Given the description of an element on the screen output the (x, y) to click on. 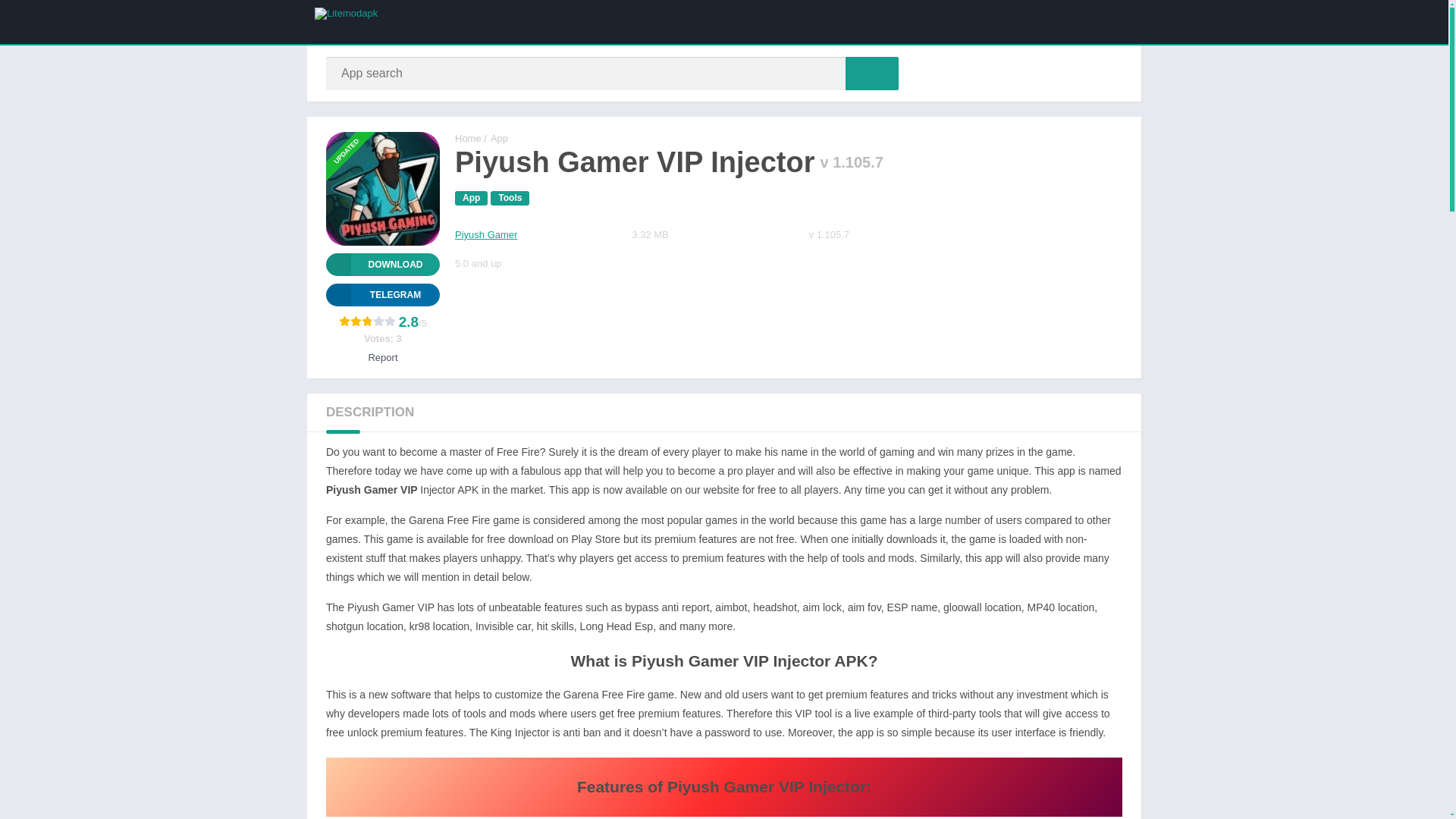
Download (382, 264)
Updated (352, 125)
Home (467, 138)
DOWNLOAD (382, 264)
App (470, 197)
Piyush Gamer (485, 234)
App search (871, 73)
TELEGRAM (382, 294)
Tools (509, 197)
Telegram (382, 294)
Litemodapk (467, 138)
App (499, 138)
